Given the description of an element on the screen output the (x, y) to click on. 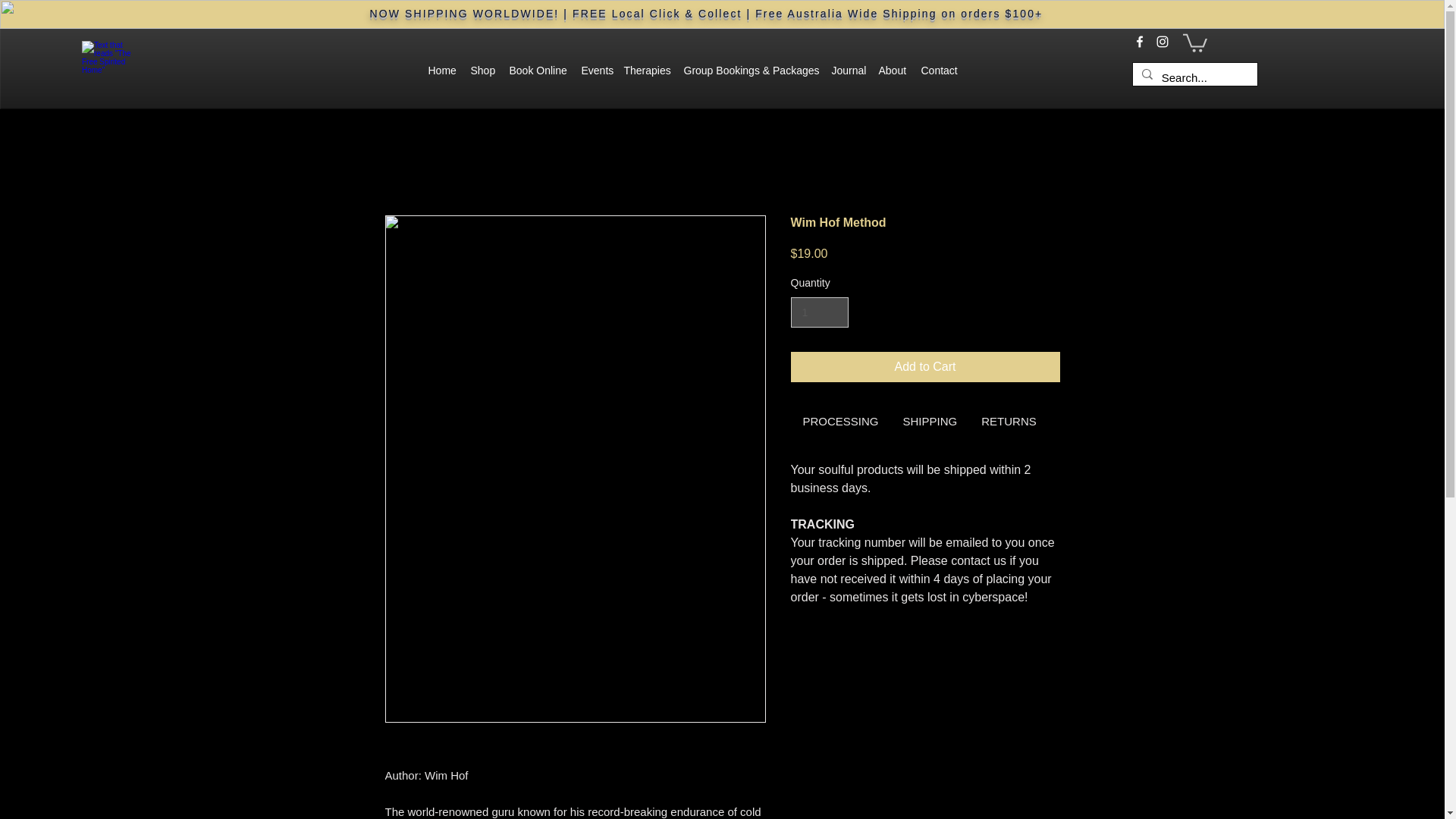
Home (441, 70)
Use right and left arrows to navigate between tabs (1008, 421)
Use right and left arrows to navigate between tabs (930, 421)
About (891, 70)
1 (818, 312)
Events (594, 70)
Contact (937, 70)
Journal (847, 70)
Use right and left arrows to navigate between tabs (840, 421)
Therapies (645, 70)
